Given the description of an element on the screen output the (x, y) to click on. 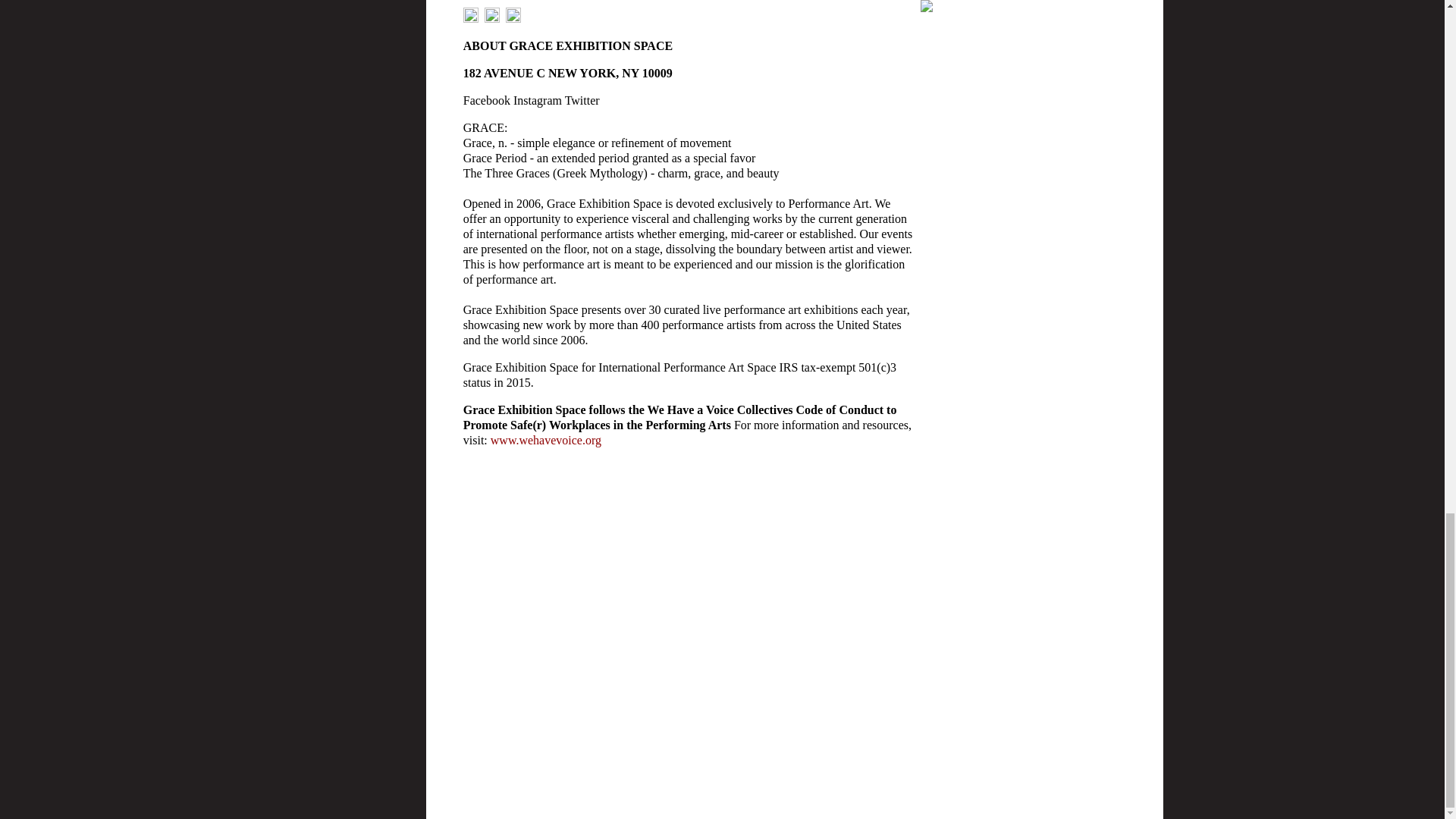
www.wehavevoice.org (545, 440)
